Given the description of an element on the screen output the (x, y) to click on. 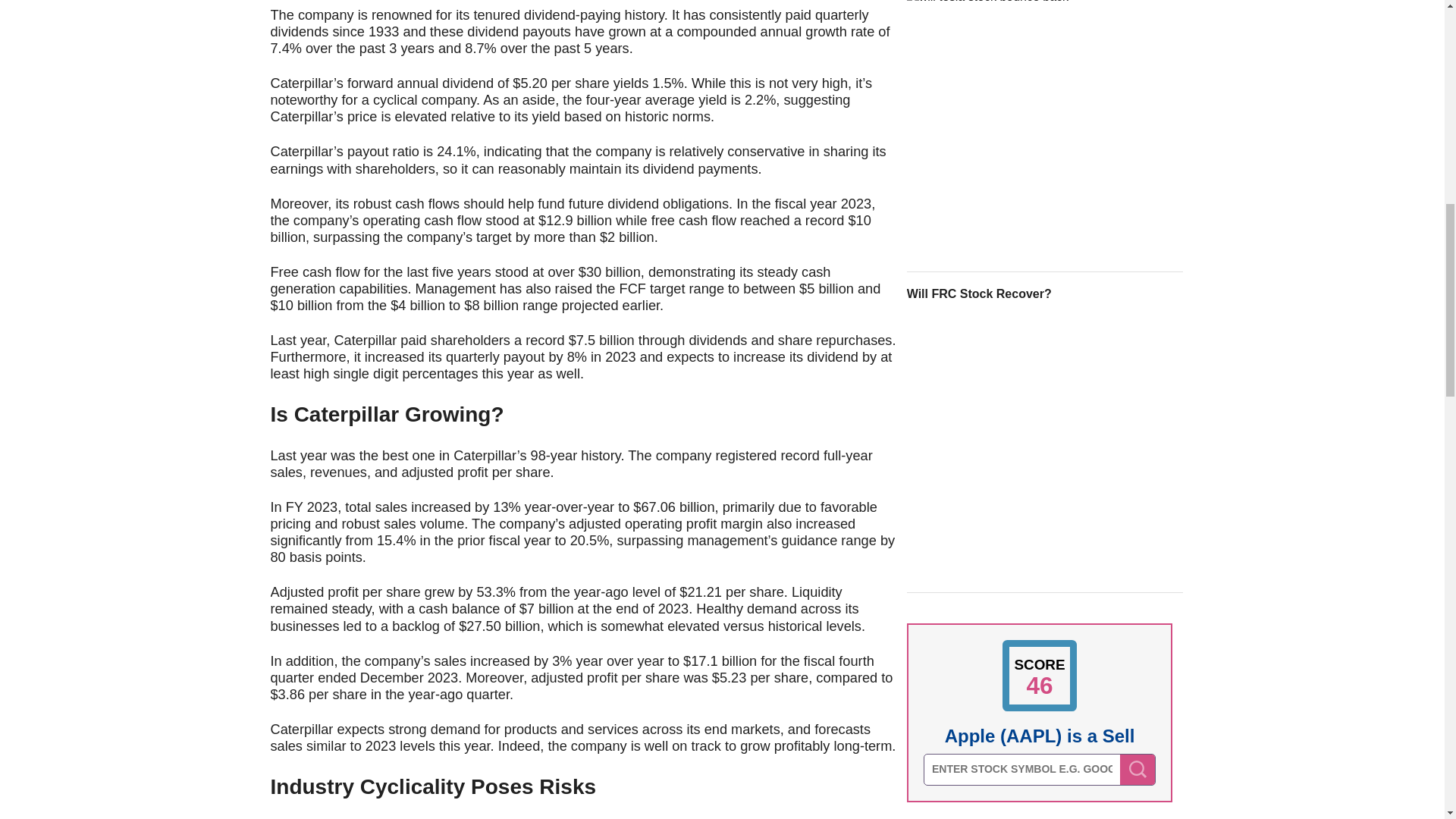
Can Tesla Stock Bounce Back? (1045, 132)
Will FRC Stock Recover? (1045, 293)
Will FRC Stock Recover? (1045, 448)
